Given the description of an element on the screen output the (x, y) to click on. 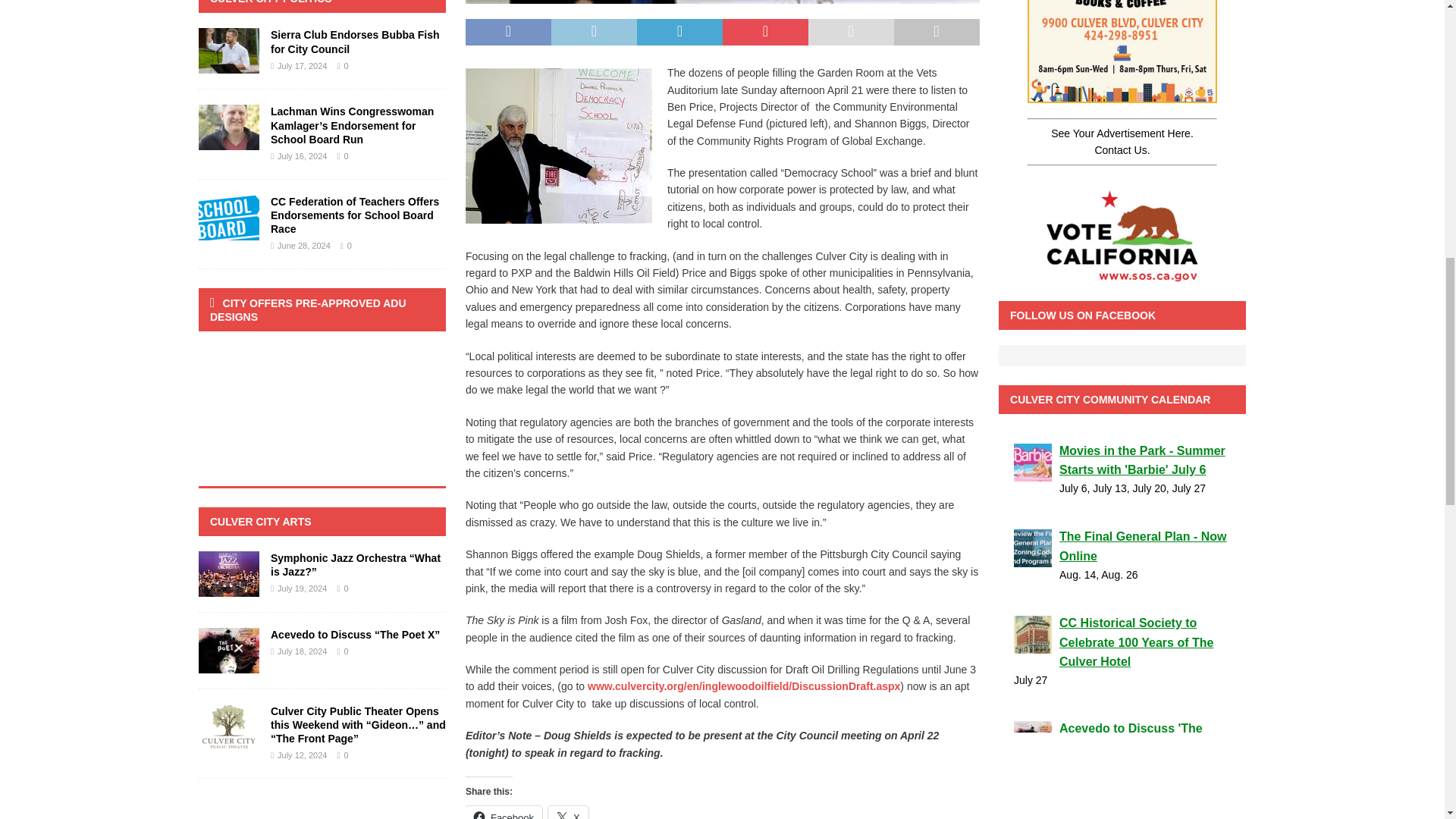
Acevedo to Discuss 'The Poet X' (1121, 738)
July 27 (1121, 679)
Aug. 14, Aug. 26 (1121, 574)
July 6, July 13, July 20, July 27 (1121, 487)
Movies in the Park - Summer Starts with 'Barbie' July 6 (1121, 460)
The Final General Plan - Now Online (1121, 546)
